Given the description of an element on the screen output the (x, y) to click on. 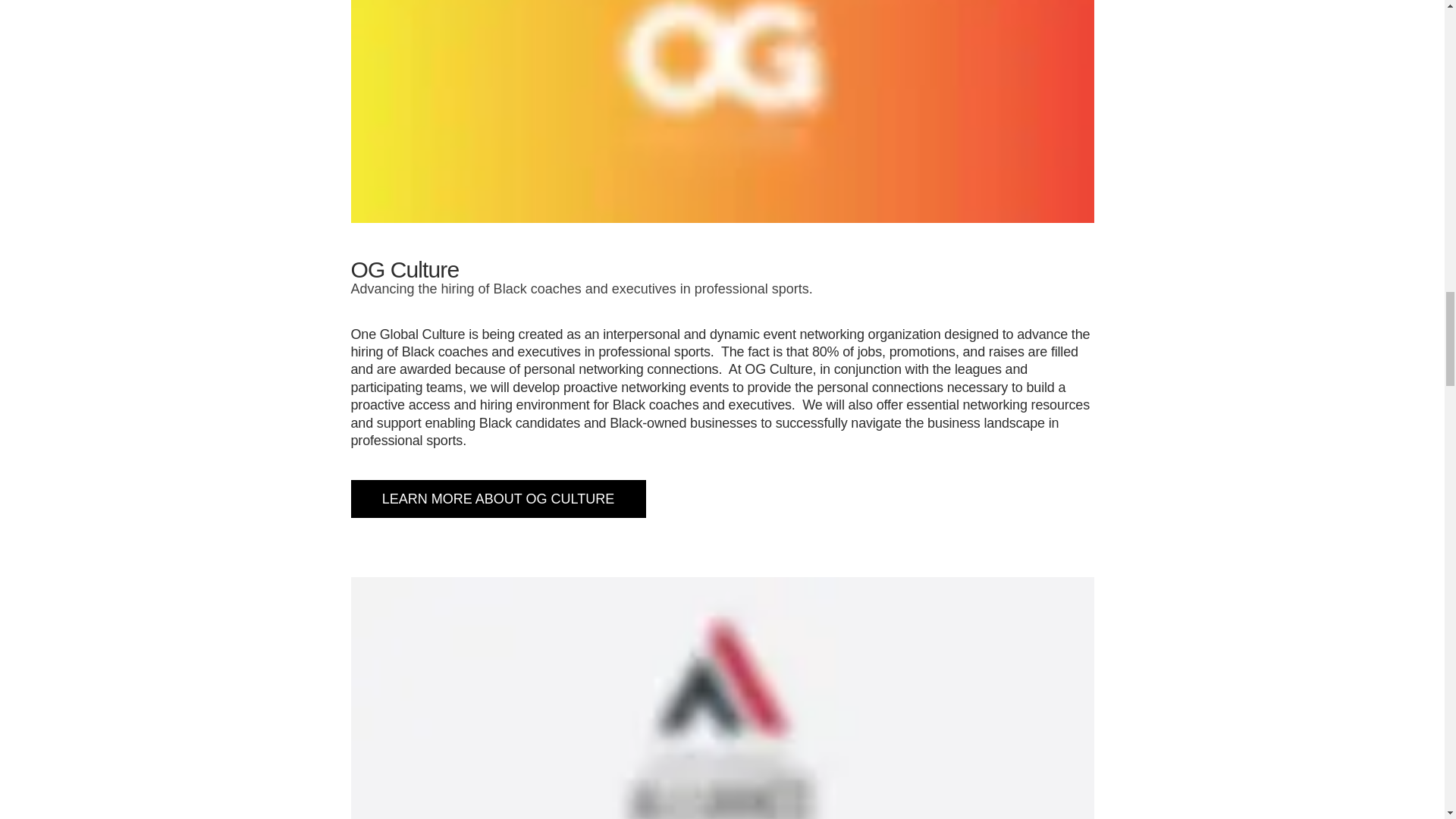
LEARN MORE ABOUT OG CULTURE (497, 498)
